Given the description of an element on the screen output the (x, y) to click on. 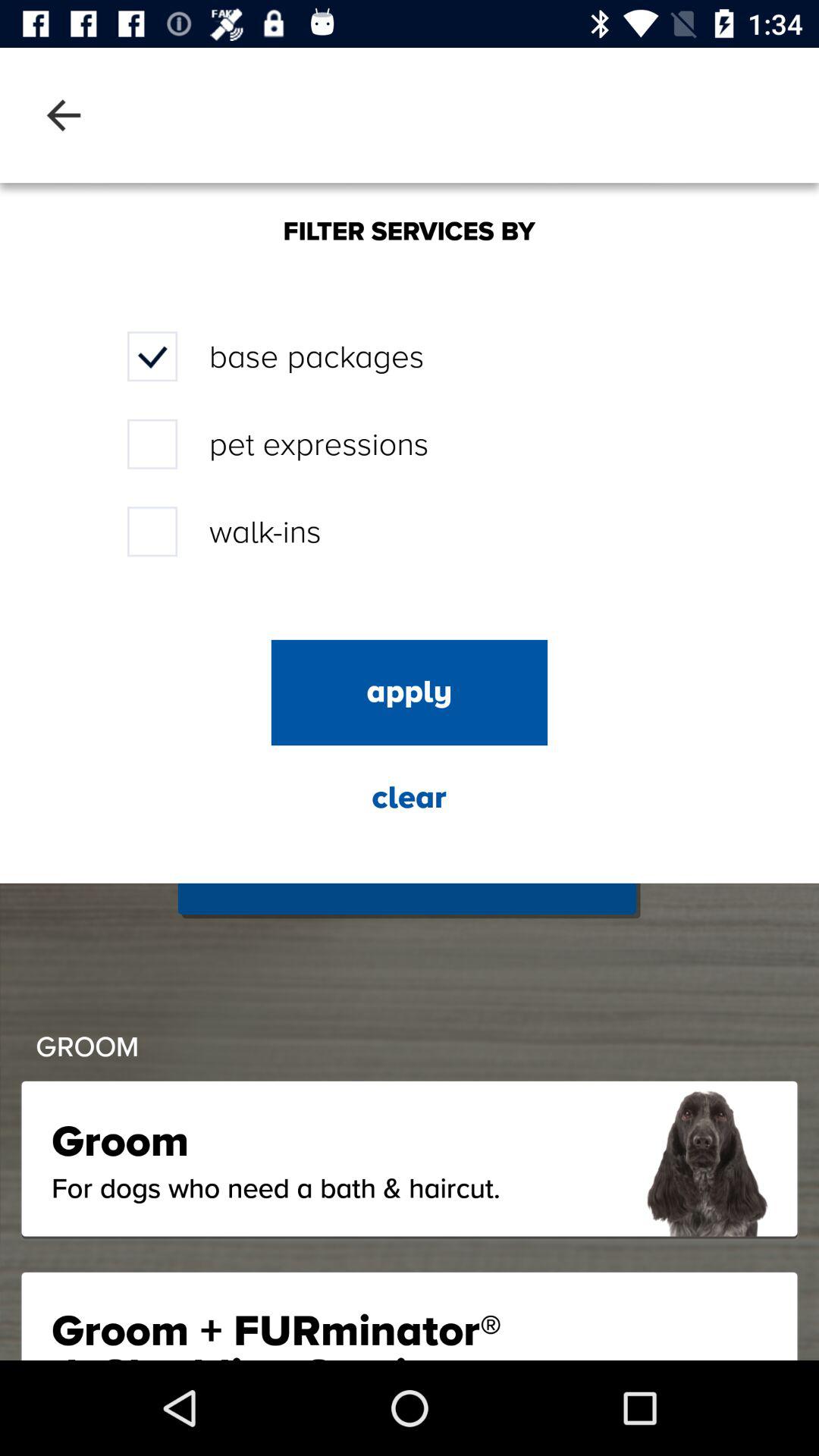
turn on the item below the walk-ins item (409, 692)
